Given the description of an element on the screen output the (x, y) to click on. 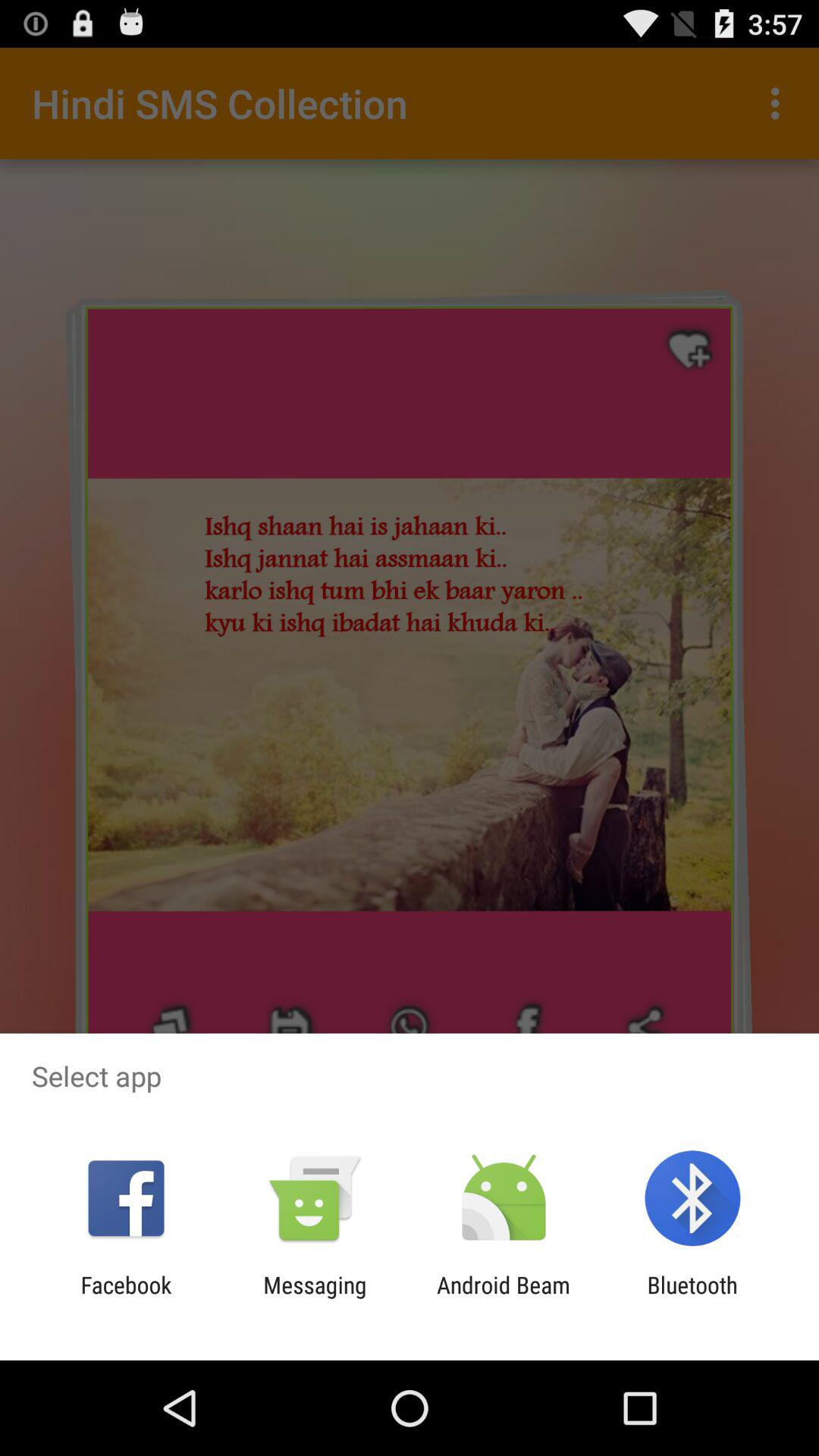
choose the icon to the left of the android beam item (314, 1298)
